Given the description of an element on the screen output the (x, y) to click on. 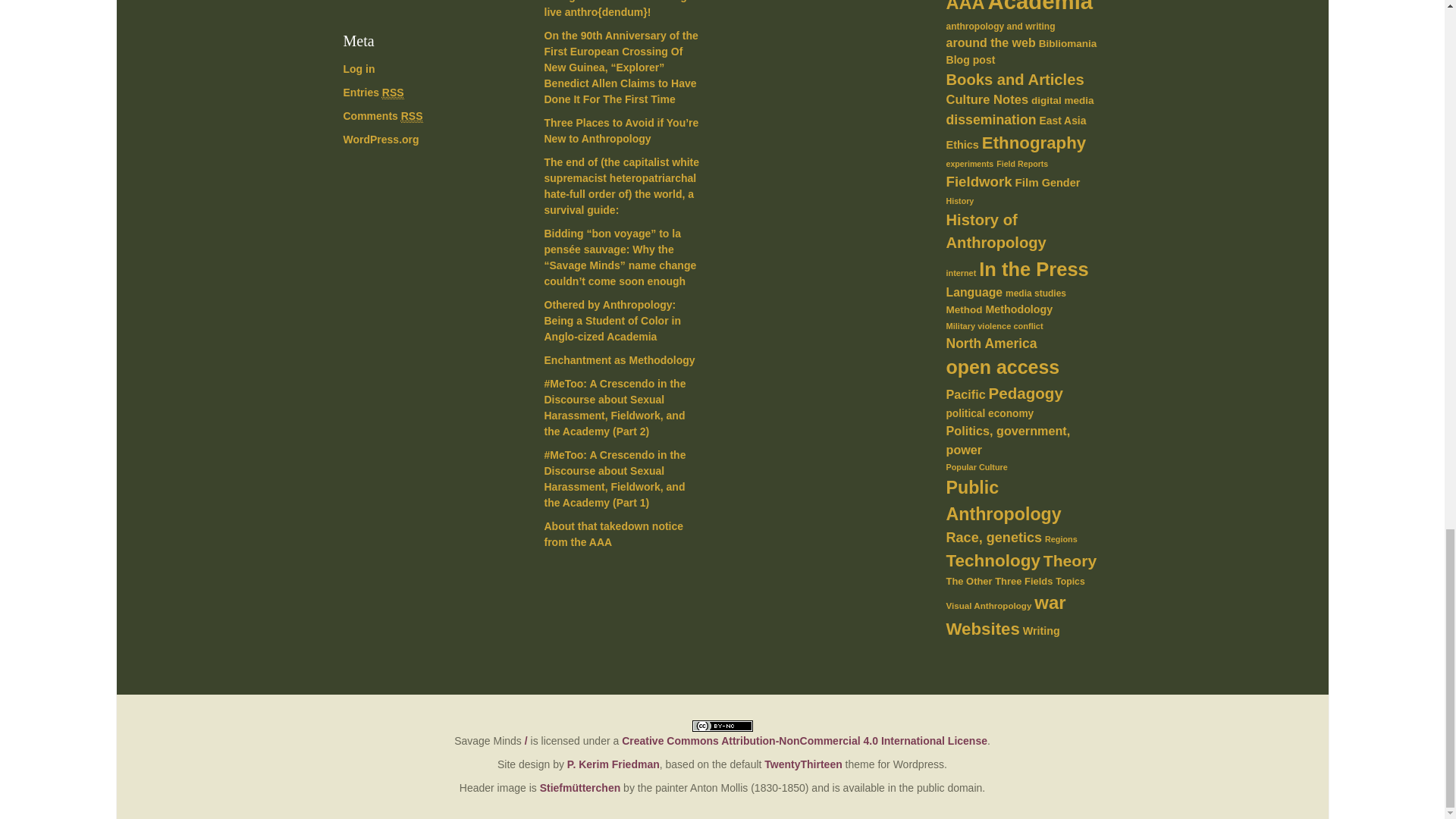
About that takedown notice from the AAA (614, 533)
Enchantment as Methodology (619, 359)
Really Simple Syndication (392, 92)
Really Simple Syndication (412, 115)
